Given the description of an element on the screen output the (x, y) to click on. 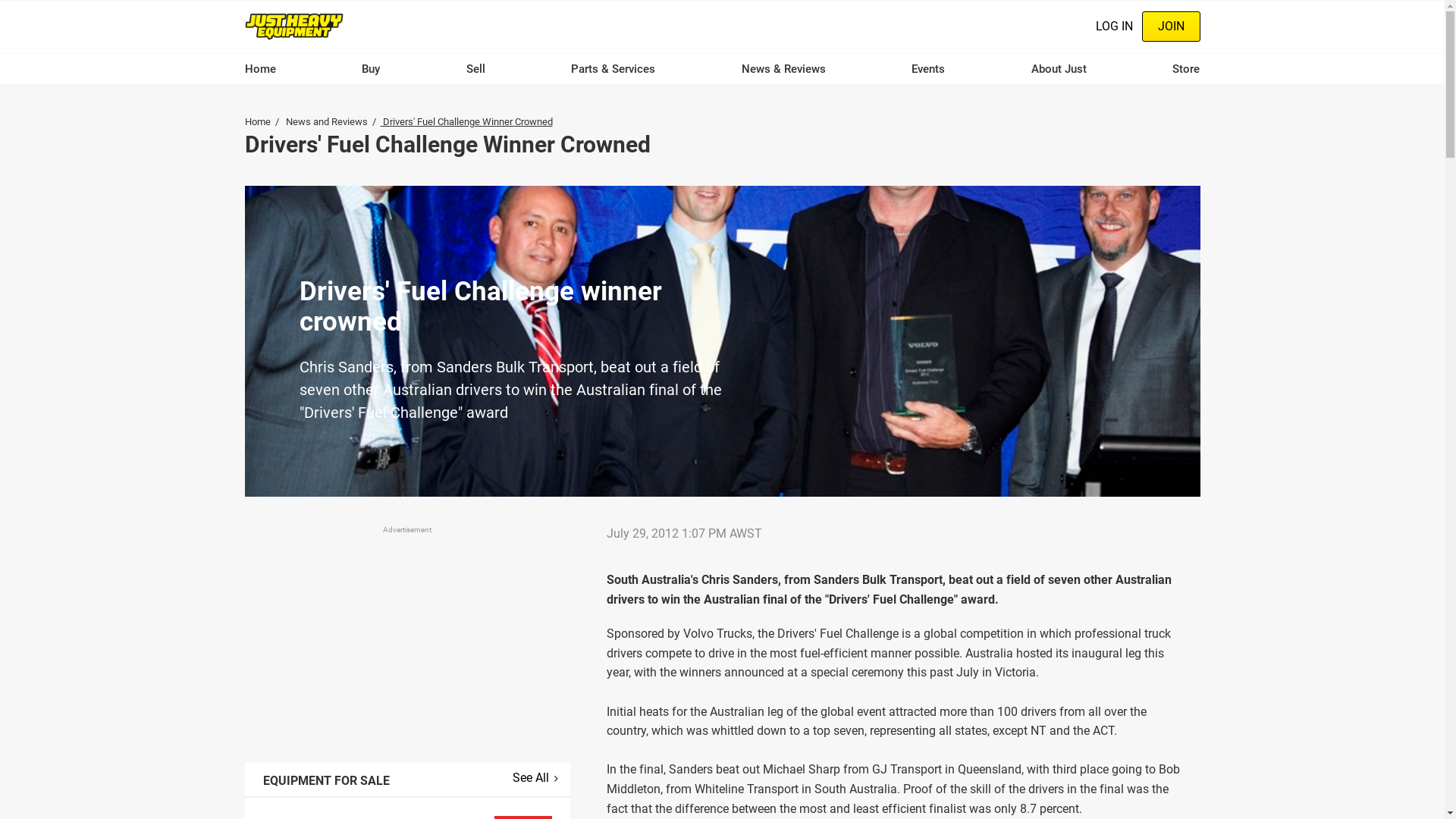
Home Element type: hover (293, 25)
Home Element type: text (259, 68)
News & Reviews Element type: text (783, 68)
News and Reviews Element type: text (326, 121)
JOIN Element type: text (1171, 26)
Sell Element type: text (475, 68)
Parts & Services Element type: text (613, 68)
Buy Element type: text (370, 68)
Skip to main content Element type: text (0, 0)
Home Element type: text (256, 121)
LOG IN Element type: text (1113, 26)
About Just Element type: text (1058, 68)
Store Element type: text (1185, 68)
Events Element type: text (927, 68)
See All Element type: text (535, 777)
